Given the description of an element on the screen output the (x, y) to click on. 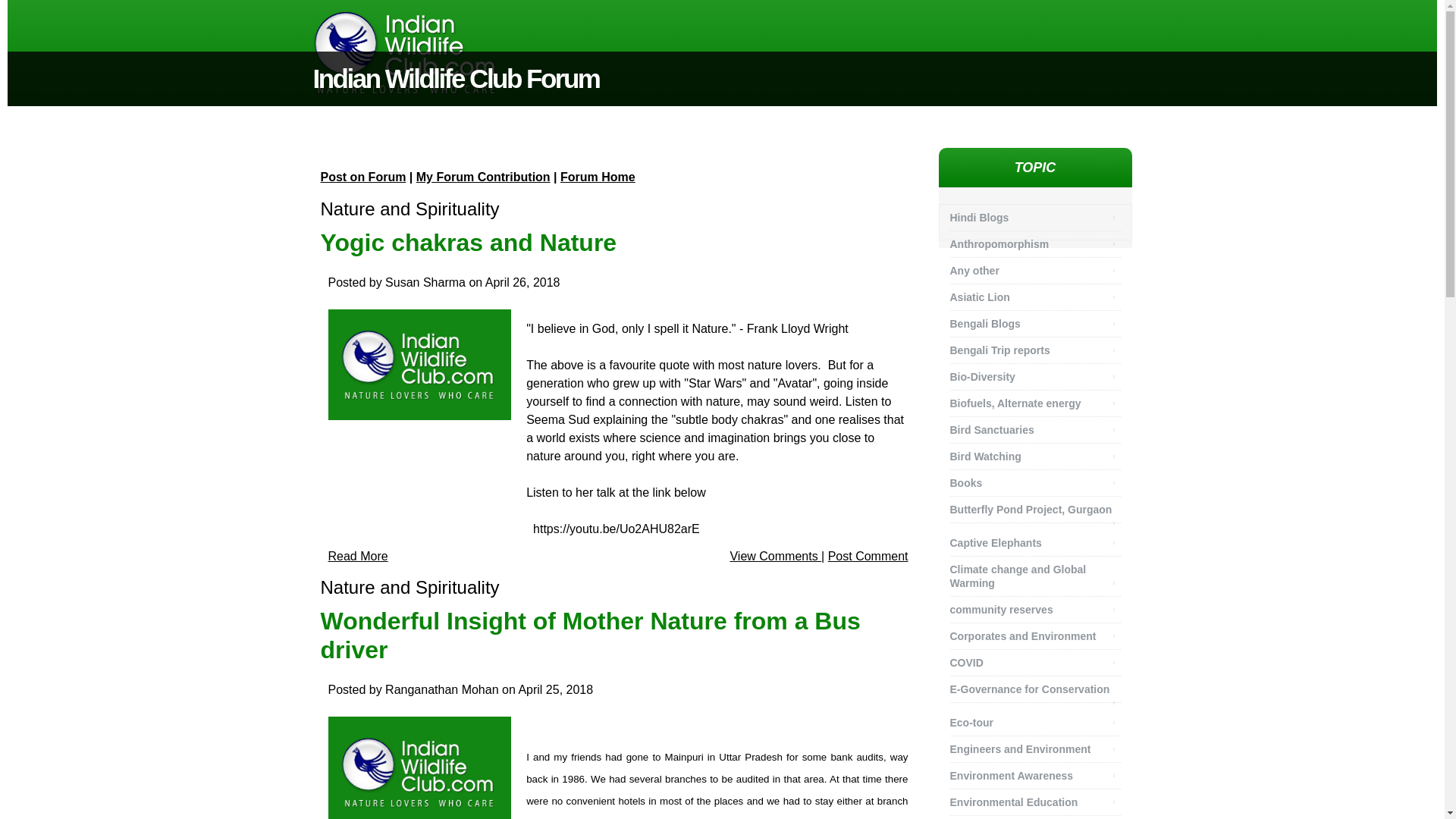
Bengali Trip reports (1000, 350)
Anthropomorphism (1000, 243)
Books (967, 482)
community reserves (1003, 609)
Bird Watching (987, 456)
Biofuels, Alternate energy (1016, 403)
Asiatic Lion (981, 297)
Yogic chakras and Nature (467, 242)
Eco-tour (973, 722)
Engineers and Environment (1021, 749)
Post on Forum (363, 176)
Corporates and Environment (1024, 636)
Nature and Spirituality (409, 587)
COVID (968, 662)
Captive Elephants (997, 542)
